Given the description of an element on the screen output the (x, y) to click on. 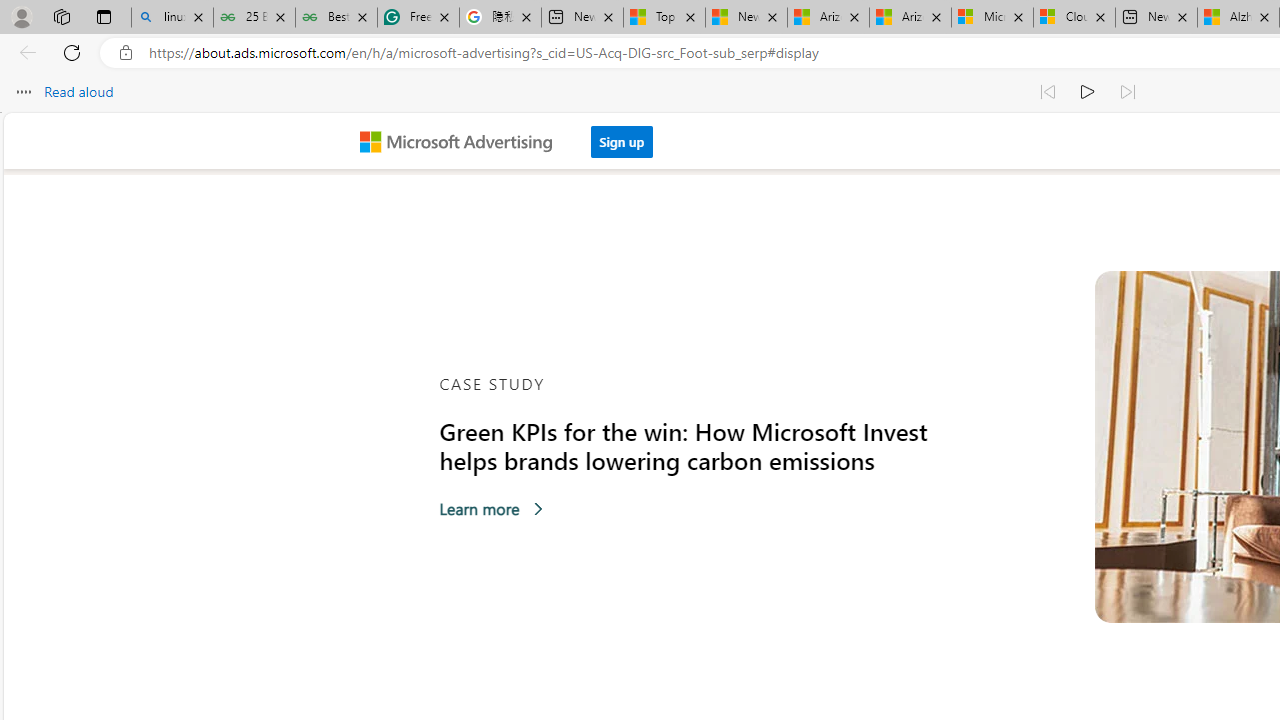
Read previous paragraph (1047, 92)
Top Stories - MSN (664, 17)
Best SSL Certificates Provider in India - GeeksforGeeks (336, 17)
Continue to read aloud (Ctrl+Shift+U) (1087, 92)
25 Basic Linux Commands For Beginners - GeeksforGeeks (254, 17)
Microsoft Services Agreement (992, 17)
Read next paragraph (1128, 92)
linux basic - Search (171, 17)
